Given the description of an element on the screen output the (x, y) to click on. 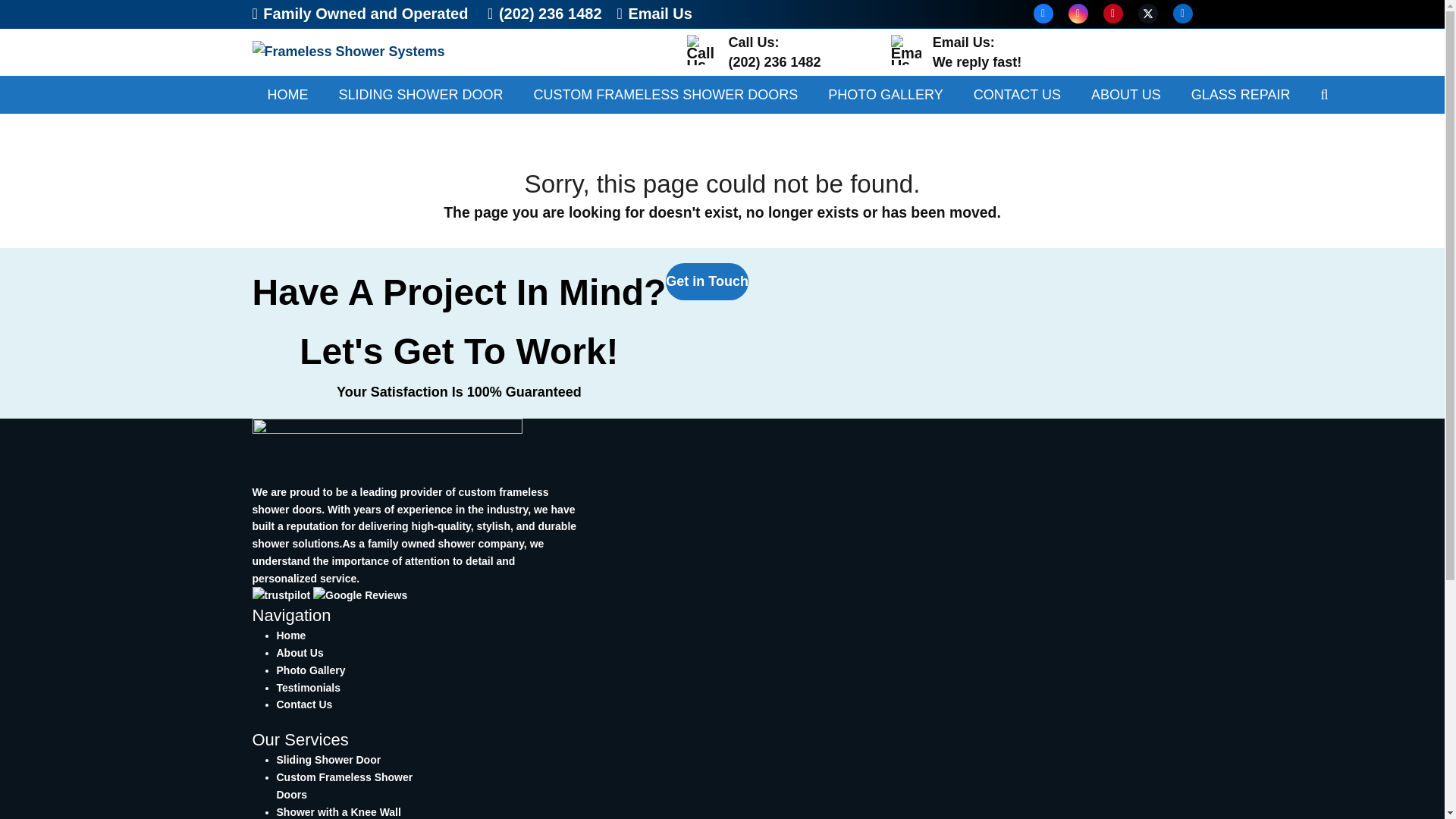
Shower with a Knee Wall (338, 811)
PHOTO GALLERY (977, 51)
Email Us (885, 94)
ABOUT US (655, 13)
LinkedIn (1125, 94)
Pinterest (1182, 13)
Get in Touch (1112, 13)
Facebook (706, 281)
Sliding Shower Door (1042, 13)
CONTACT US (328, 759)
Home (1016, 94)
Testimonials (290, 635)
Contact Us (308, 687)
GLASS REPAIR (303, 704)
